Given the description of an element on the screen output the (x, y) to click on. 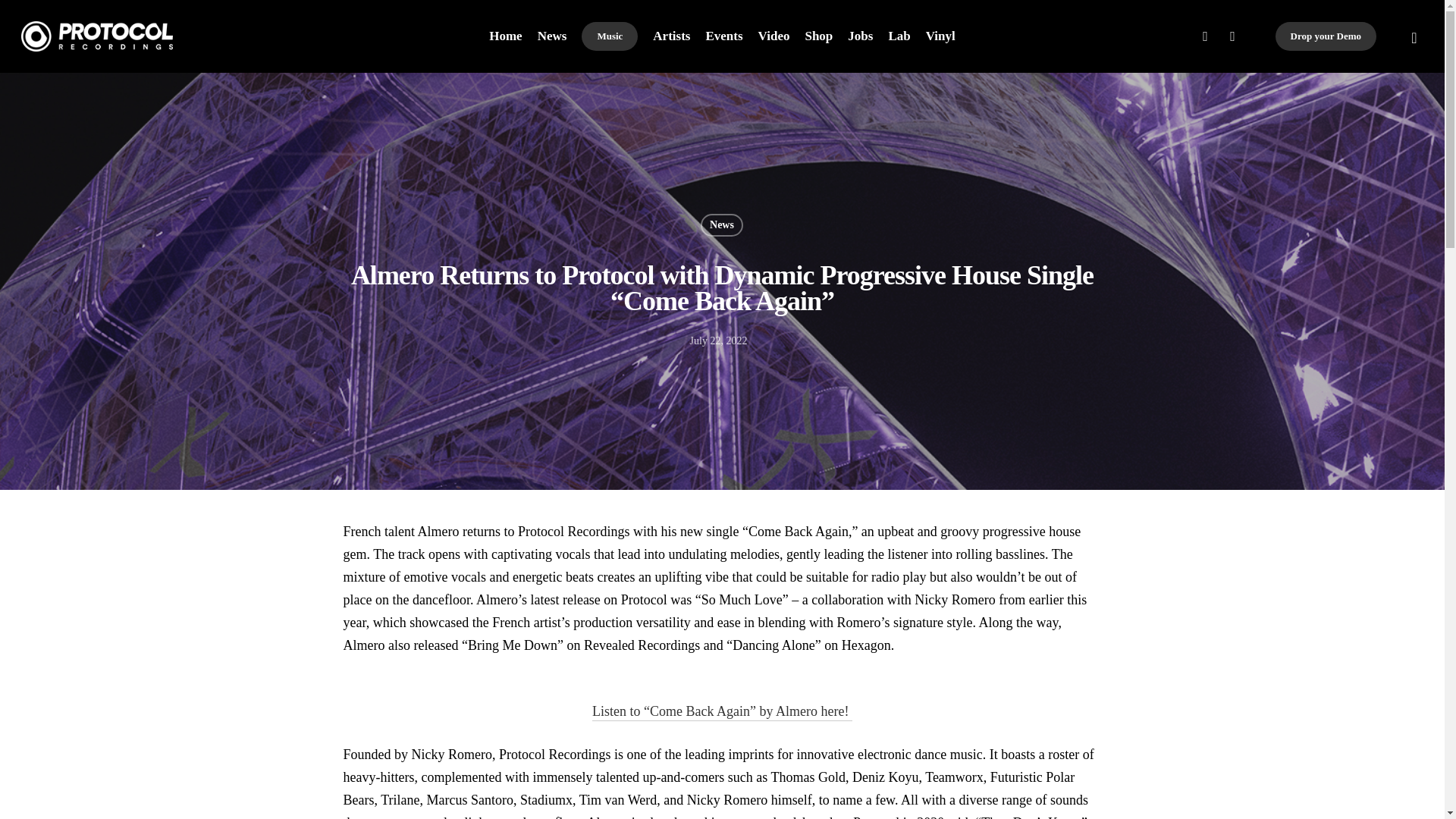
News (721, 224)
Events (723, 36)
Video (774, 36)
Lab (899, 36)
Artists (671, 36)
Jobs (859, 36)
Drop your Demo (1325, 36)
Vinyl (940, 36)
Music (608, 36)
News (552, 36)
Shop (818, 36)
Home (505, 36)
